Given the description of an element on the screen output the (x, y) to click on. 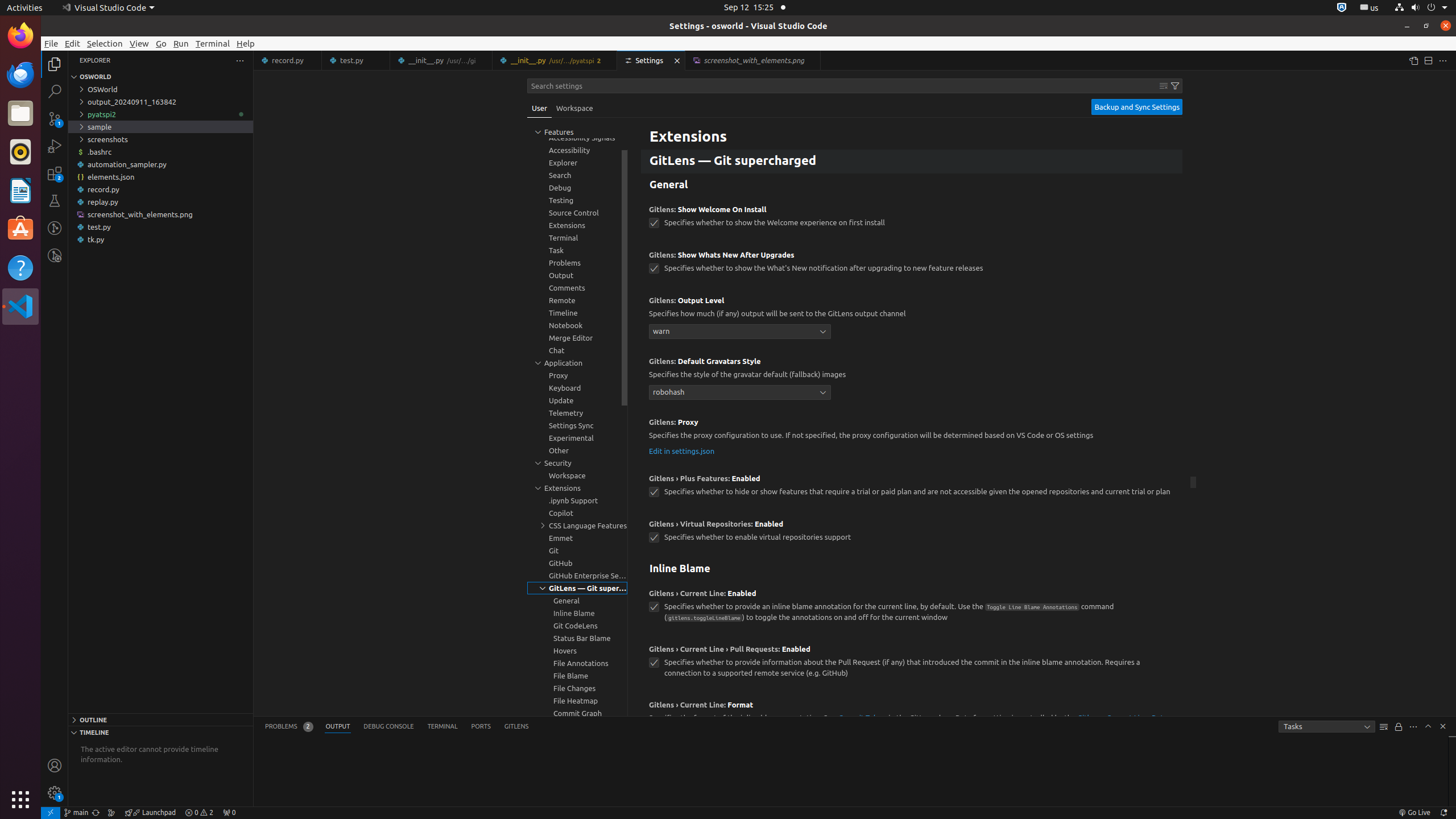
output_20240911_163842 Element type: tree-item (160, 101)
replay.py Element type: tree-item (160, 201)
test.py Element type: tree-item (160, 226)
Workspace, group Element type: tree-item (577, 475)
Explorer, group Element type: tree-item (577, 162)
